Given the description of an element on the screen output the (x, y) to click on. 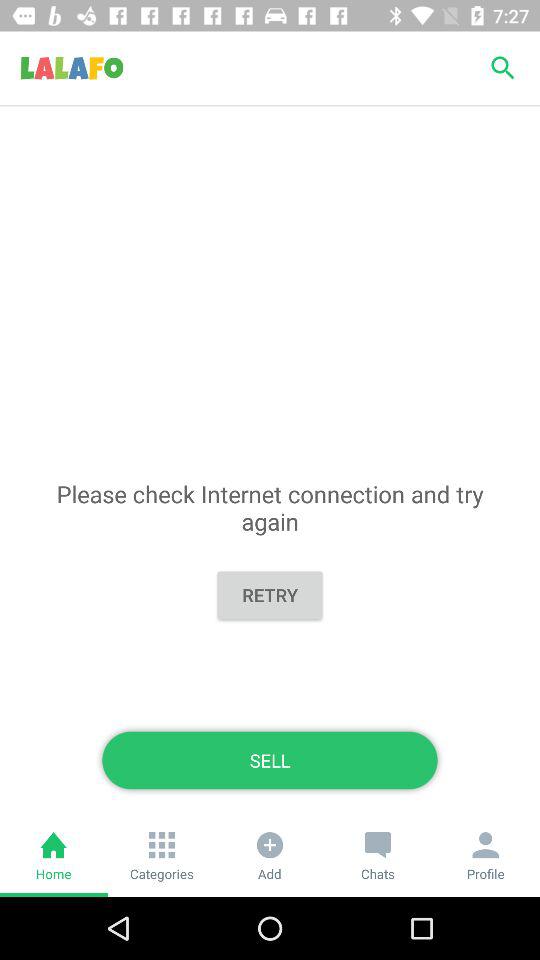
flip until sell item (269, 760)
